Given the description of an element on the screen output the (x, y) to click on. 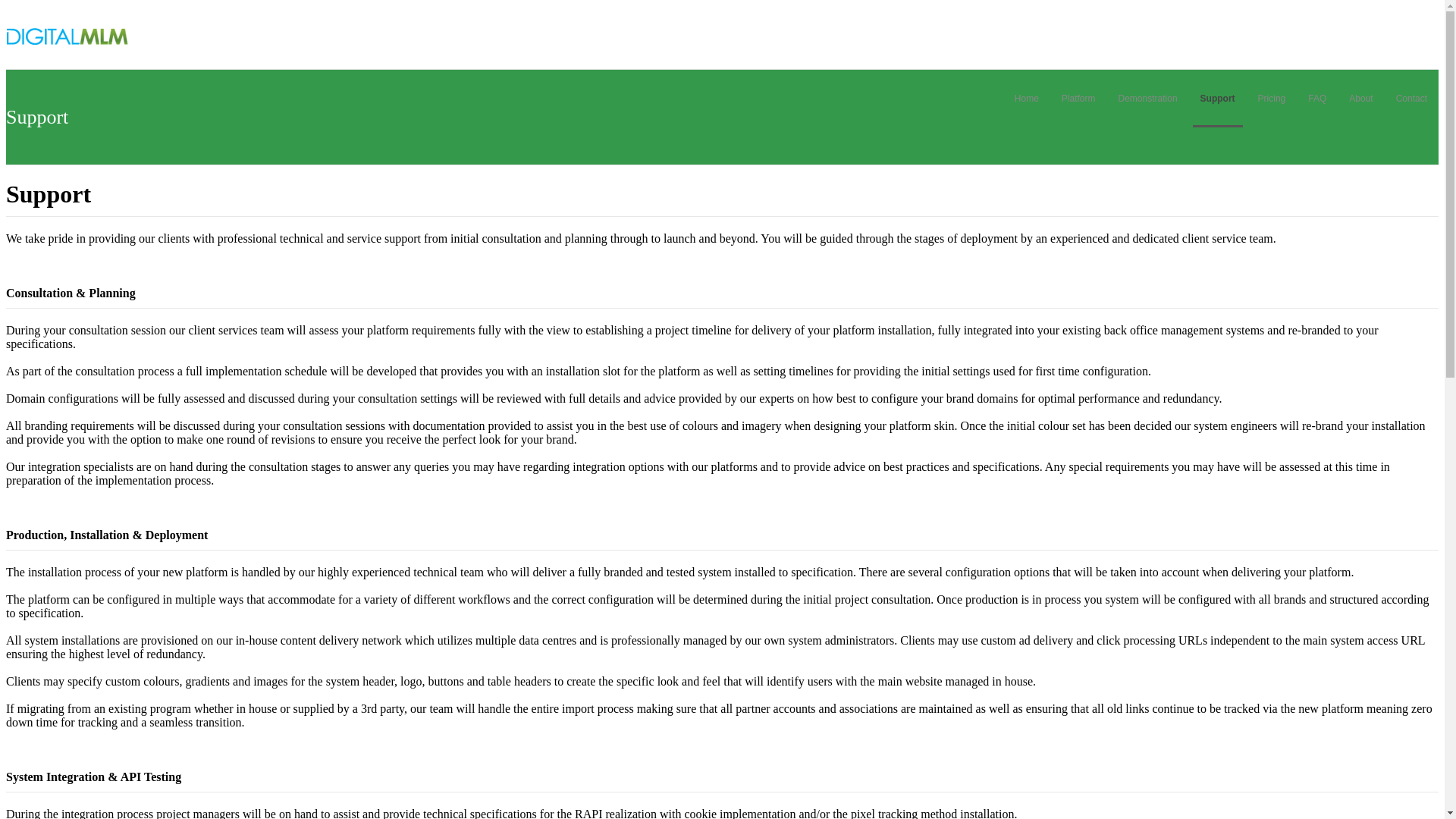
Pricing (1272, 98)
Platform (1078, 98)
About (1360, 98)
Demonstration (1147, 98)
Support (1217, 98)
Home (1026, 98)
FAQ (1316, 98)
